Given the description of an element on the screen output the (x, y) to click on. 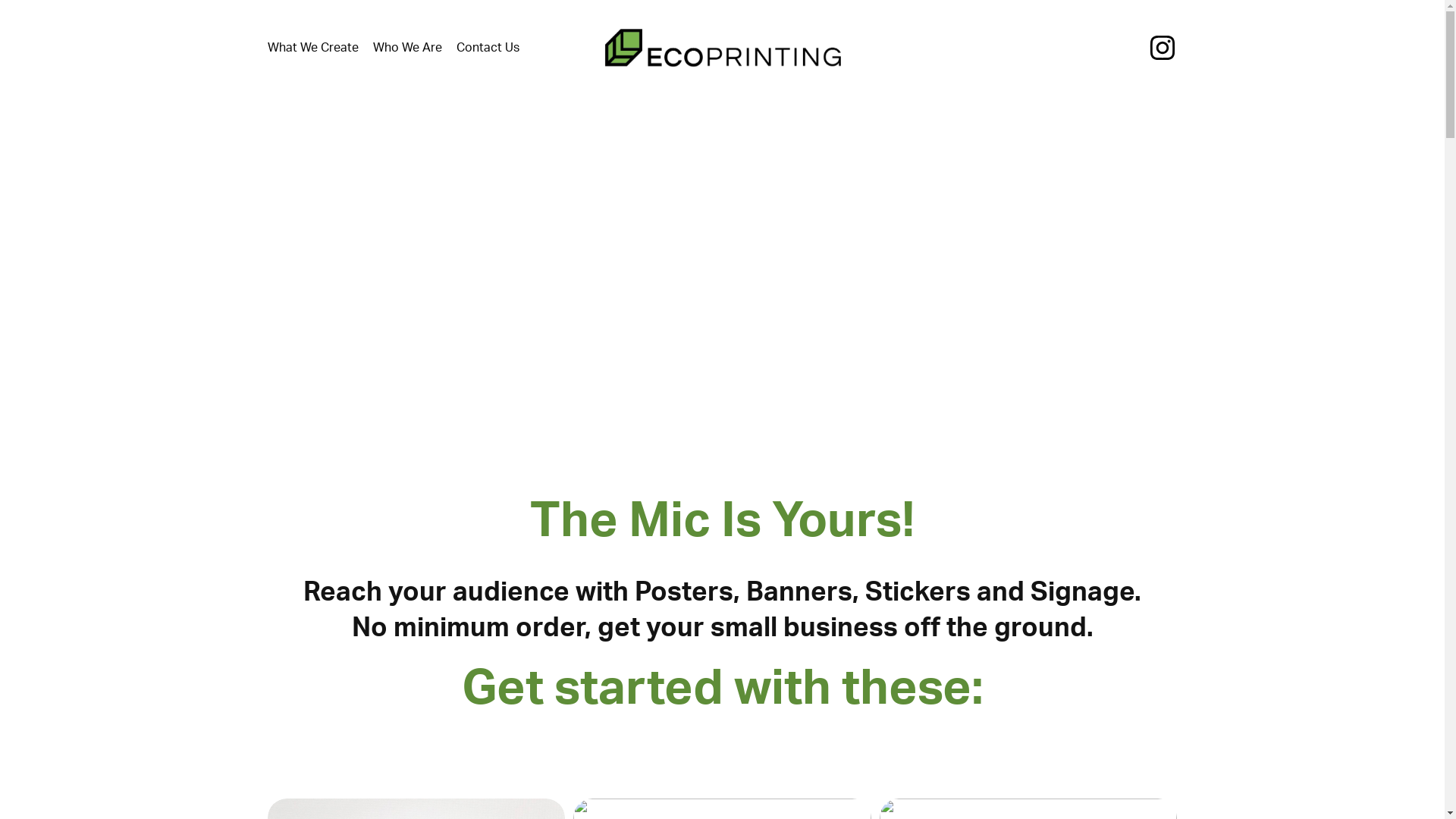
Who We Are Element type: text (407, 47)
What We Create Element type: text (311, 47)
Contact Us Element type: text (487, 47)
